Given the description of an element on the screen output the (x, y) to click on. 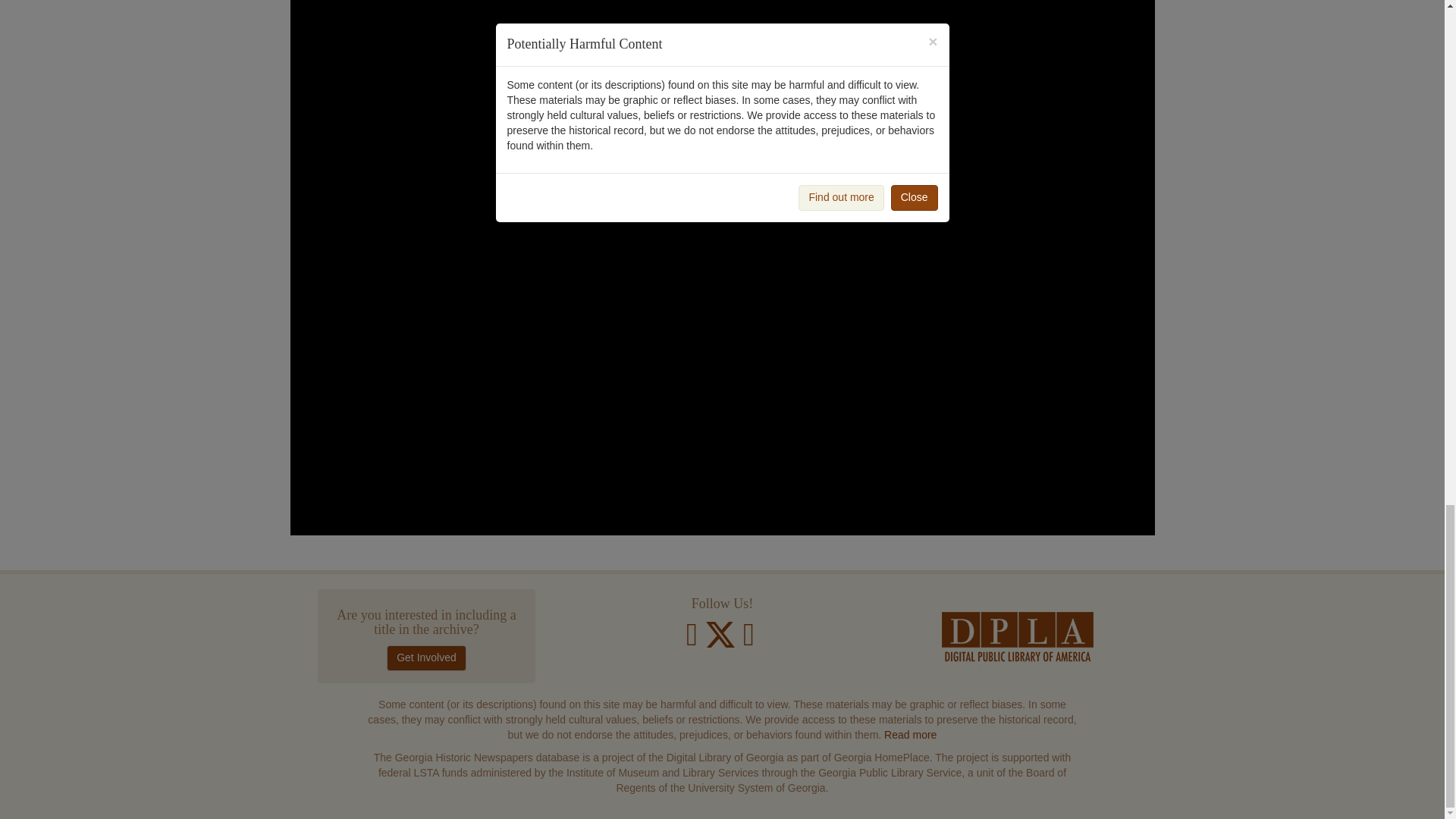
DLG Facebook Link (691, 641)
DLG Twitter Link (721, 641)
DPLA Link (1017, 638)
DLG Blog (748, 641)
